Given the description of an element on the screen output the (x, y) to click on. 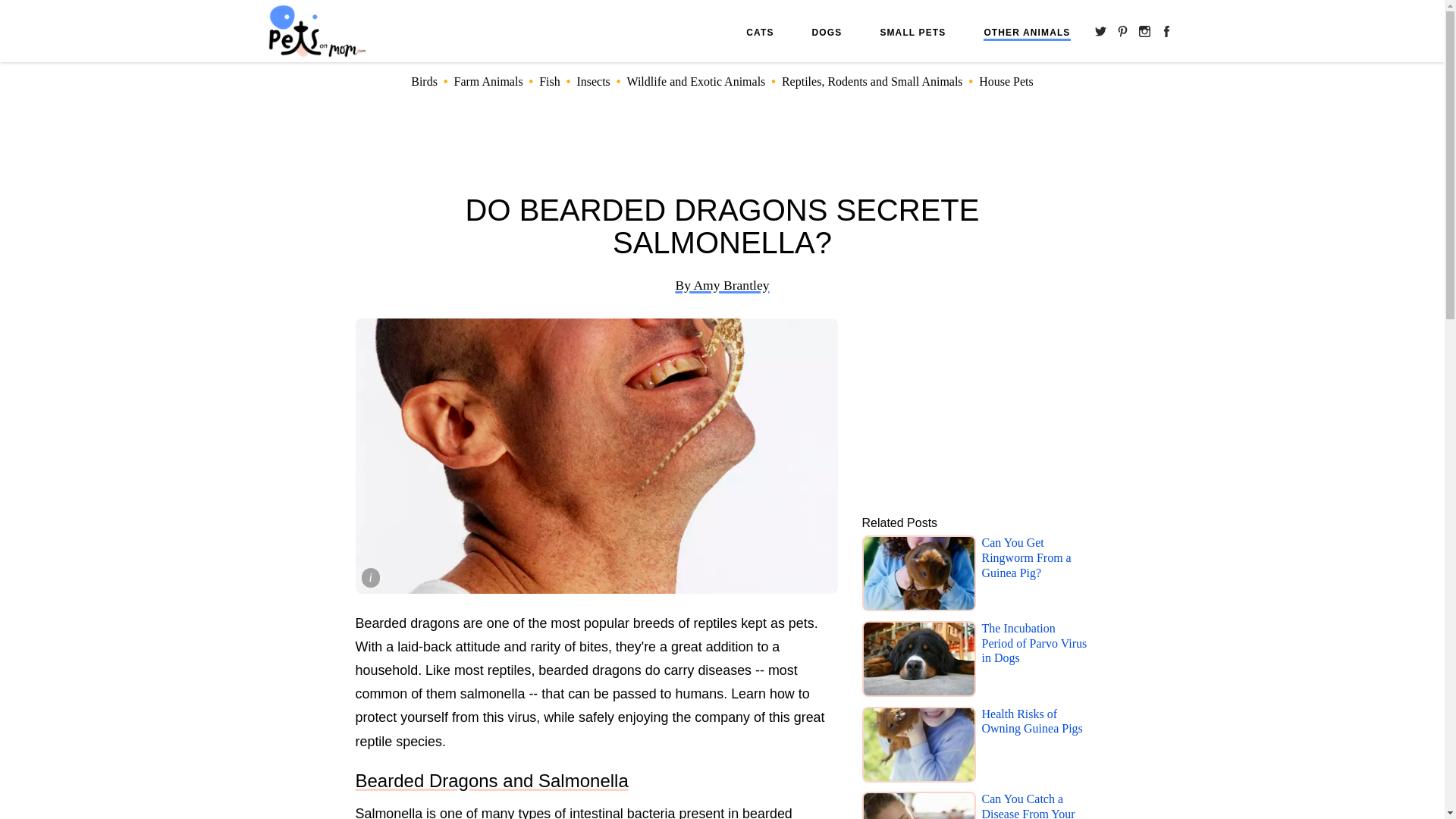
OTHER ANIMALS (1027, 33)
Birds (424, 81)
Can You Get Ringworm From a Guinea Pig? (1035, 575)
Farm Animals (487, 81)
Wildlife and Exotic Animals (695, 81)
Insects (593, 81)
The Incubation Period of Parvo Virus in Dogs (1035, 660)
Fish (549, 81)
House Pets (1005, 81)
Reptiles, Rodents and Small Animals (871, 81)
DOGS (827, 32)
Health Risks of Owning Guinea Pigs (1035, 746)
SMALL PETS (911, 32)
CATS (759, 32)
